Given the description of an element on the screen output the (x, y) to click on. 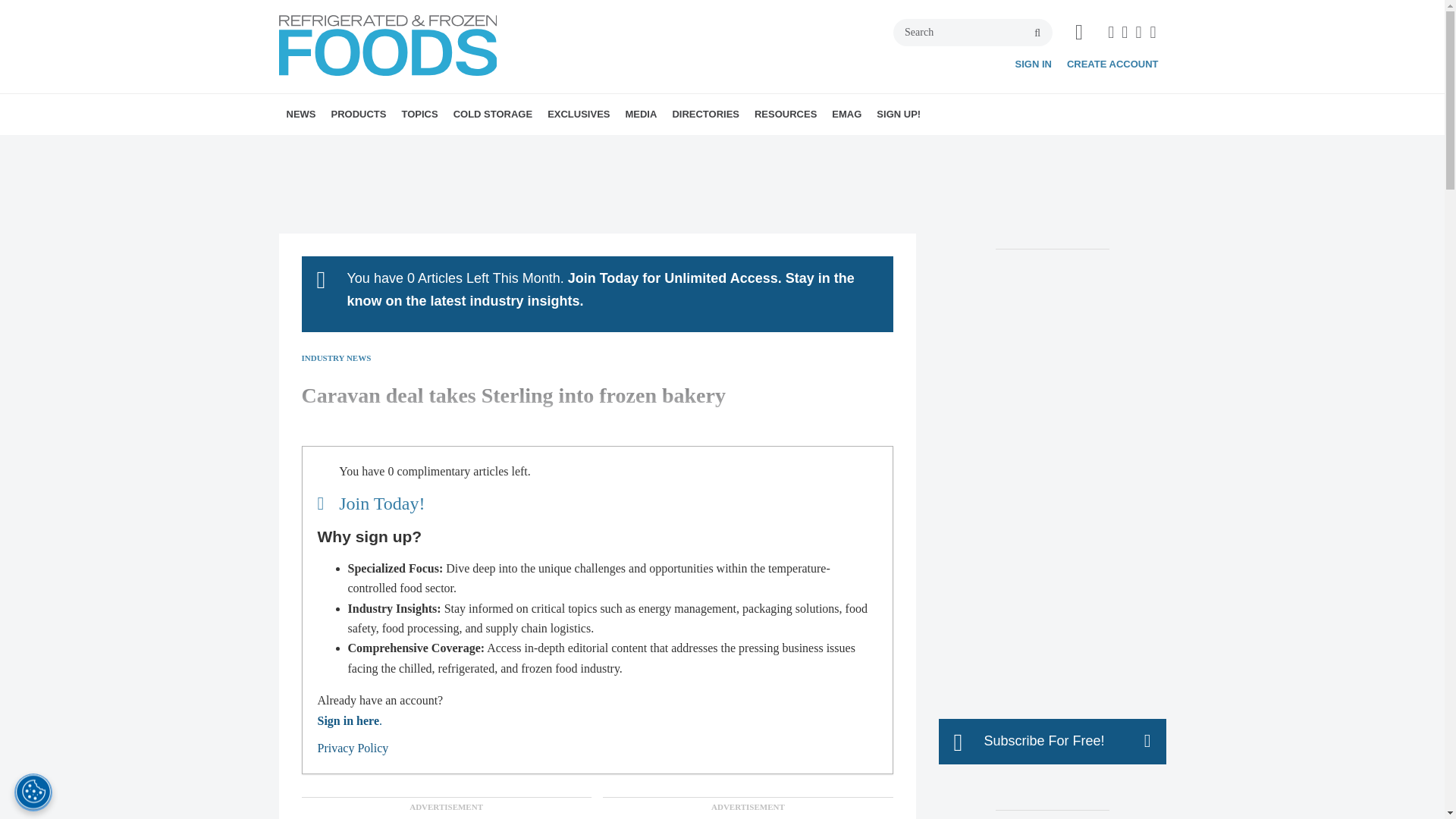
Manage your Cookies (33, 792)
Search (972, 31)
Search (972, 31)
